Given the description of an element on the screen output the (x, y) to click on. 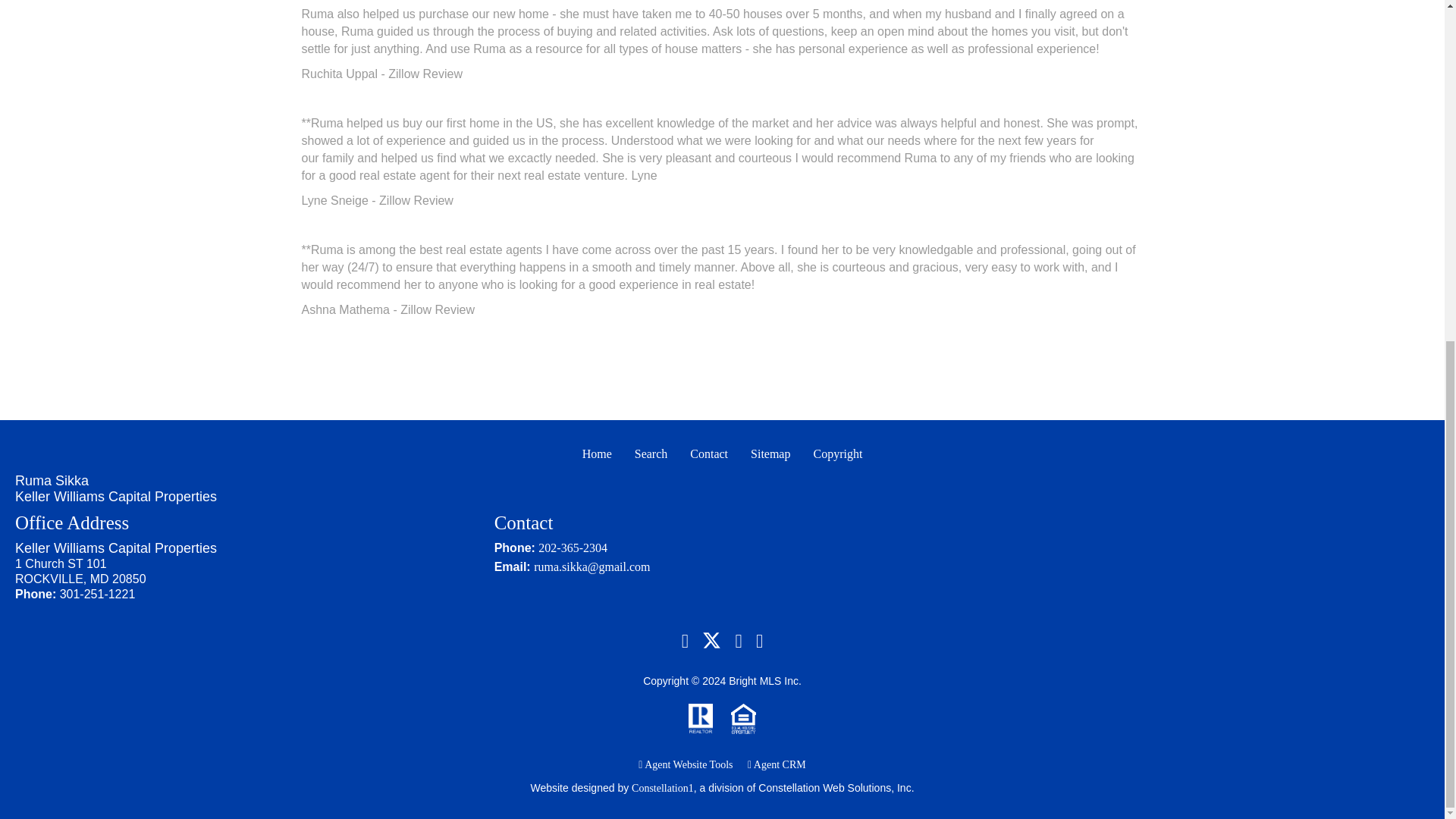
Constellation1 (662, 787)
Agent Website Tools (685, 764)
Agent CRM (777, 764)
Home (596, 453)
Search (651, 453)
202-365-2304 (572, 547)
Copyright (837, 453)
Sitemap (770, 453)
Contact (708, 453)
